Given the description of an element on the screen output the (x, y) to click on. 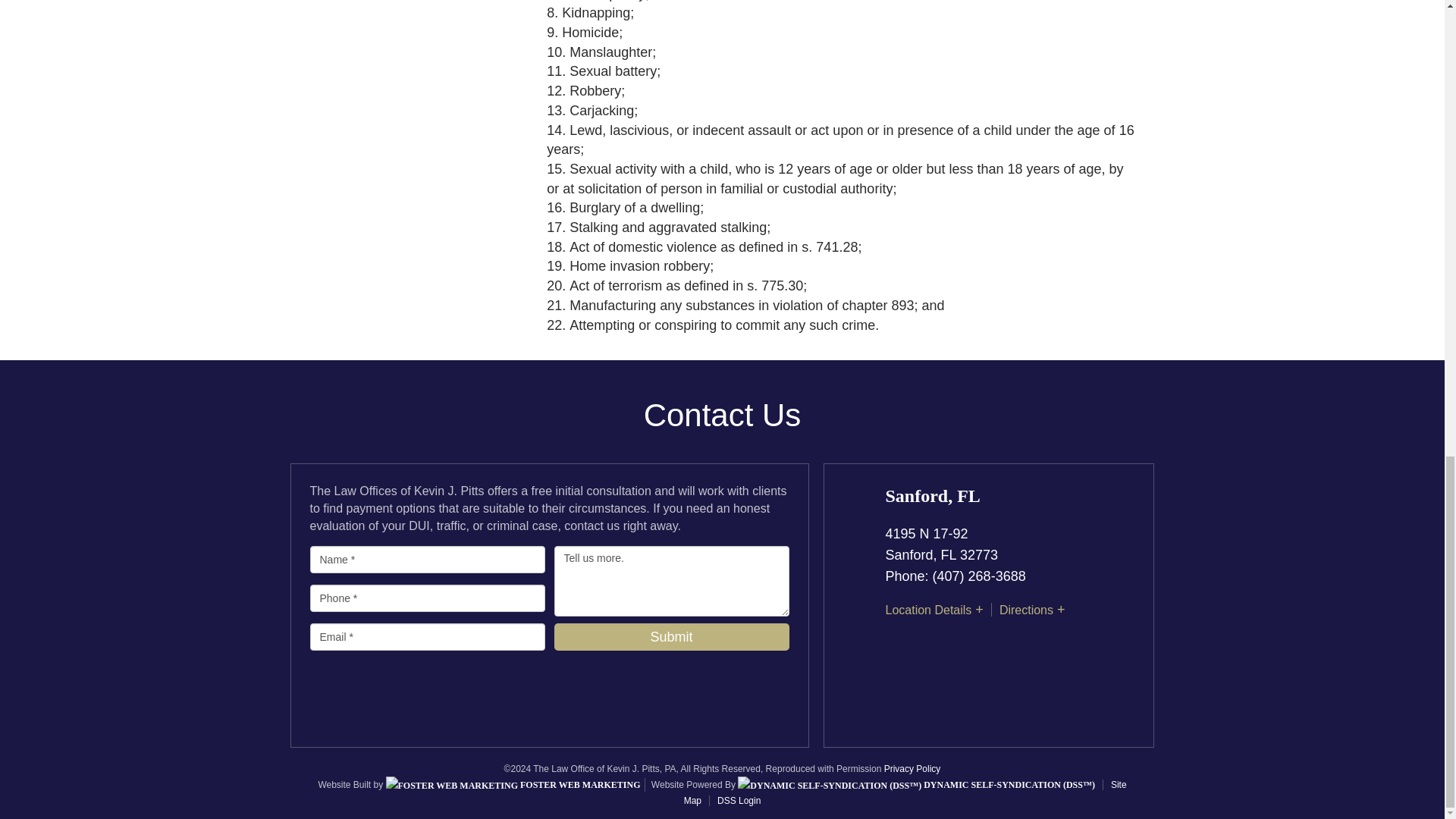
Location Details (928, 609)
Submit (671, 636)
Directions (1025, 609)
FOSTER WEB MARKETING (512, 784)
Privacy Policy (911, 768)
DSS Login (734, 800)
Site Map (905, 792)
